Given the description of an element on the screen output the (x, y) to click on. 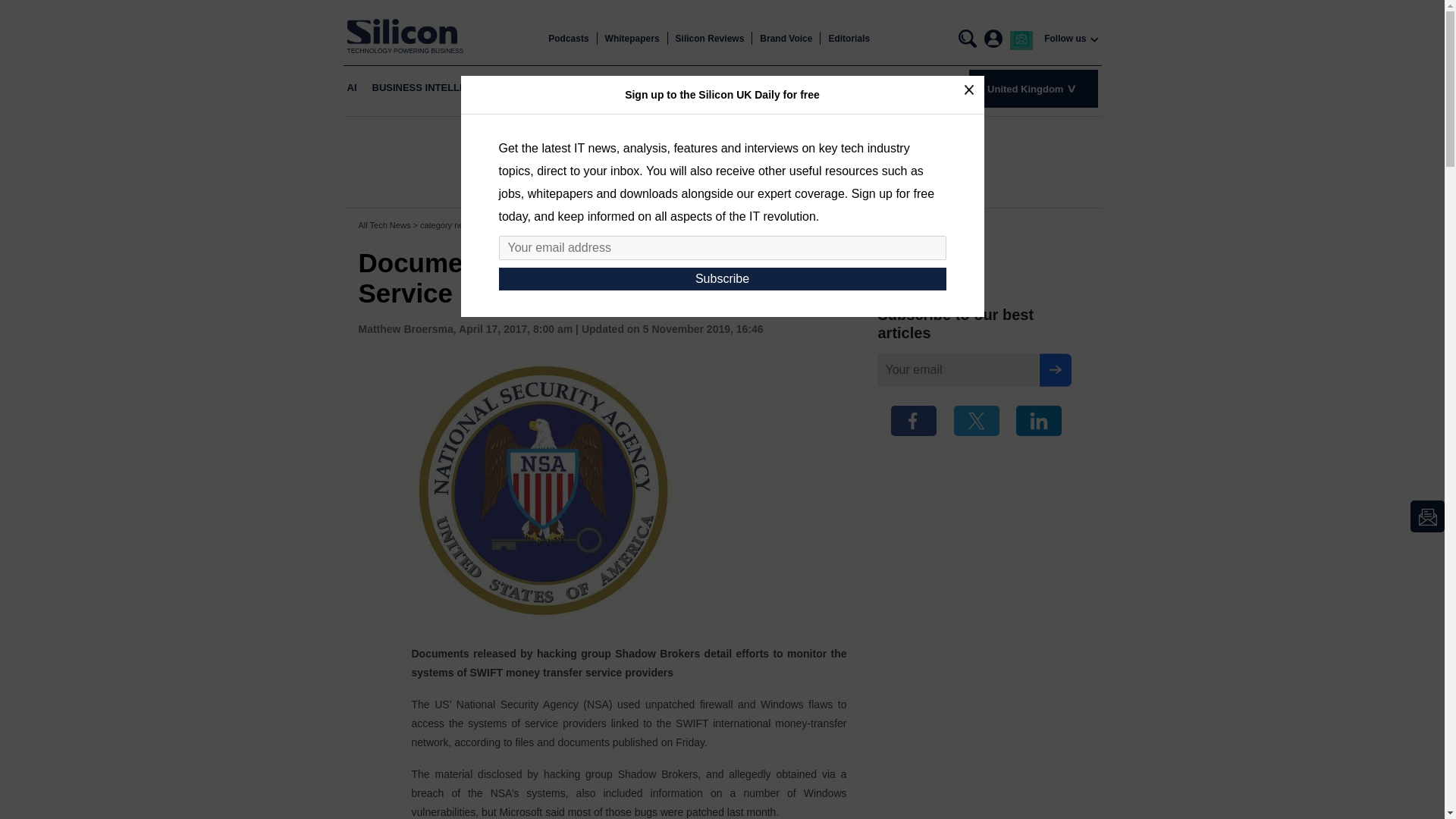
SECURITY (853, 87)
DIGITAL TRANSFORMATION (629, 87)
United Kingdom (1033, 88)
Follow us (1064, 38)
BUSINESS INTELLIGENCE (434, 87)
Podcasts (568, 38)
MARKETING (782, 87)
Brand Voice (786, 38)
Whitepapers (632, 38)
DATA (724, 87)
